Given the description of an element on the screen output the (x, y) to click on. 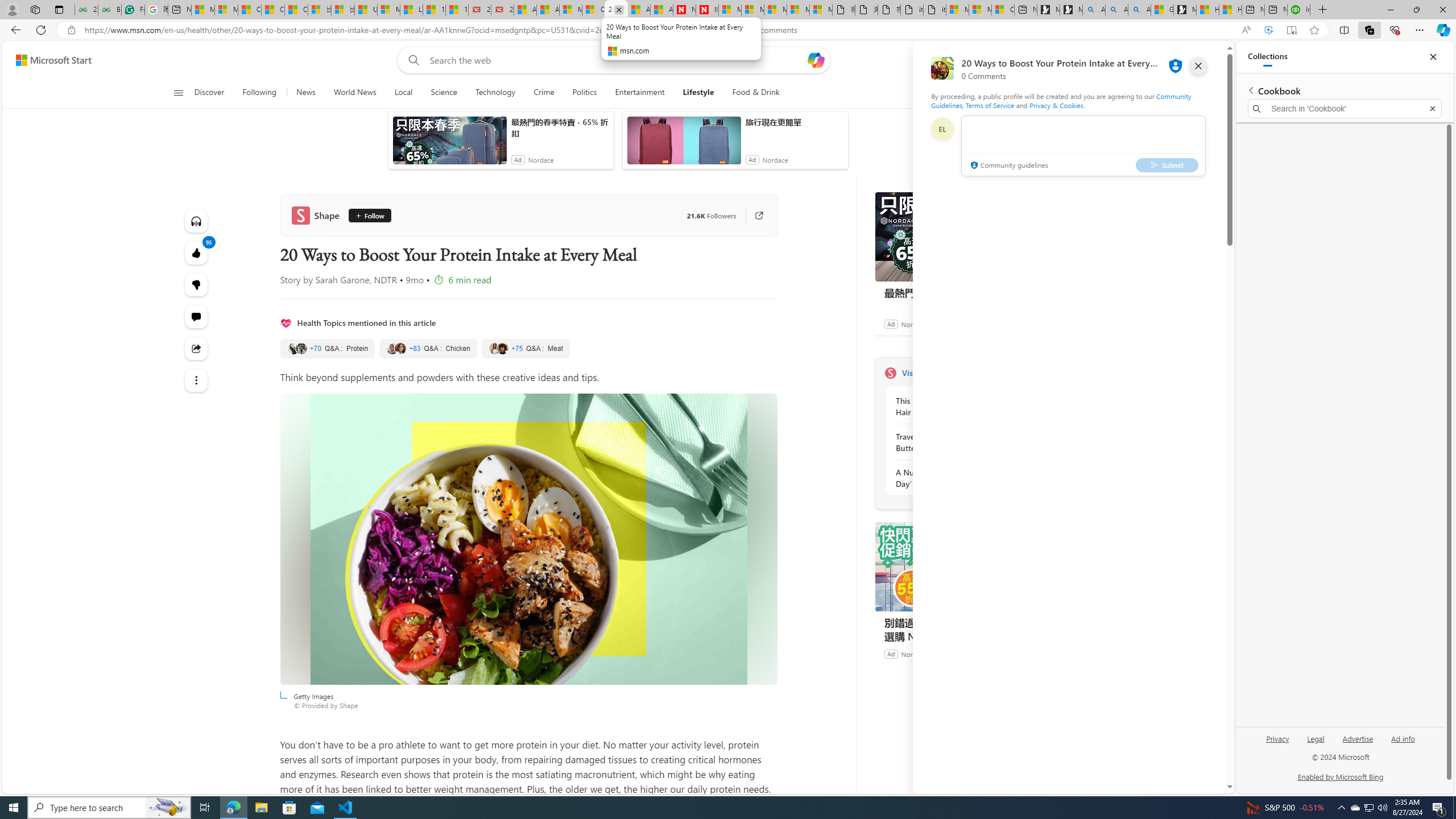
Entertainment (639, 92)
95 Like (196, 252)
Ad info (1402, 742)
Profile Picture (941, 128)
Science (442, 92)
Lifestyle - MSN (411, 9)
Privacy (1277, 742)
Science (443, 92)
Class: button-glyph (178, 92)
Privacy & Cookies (1056, 104)
Local (403, 92)
